Given the description of an element on the screen output the (x, y) to click on. 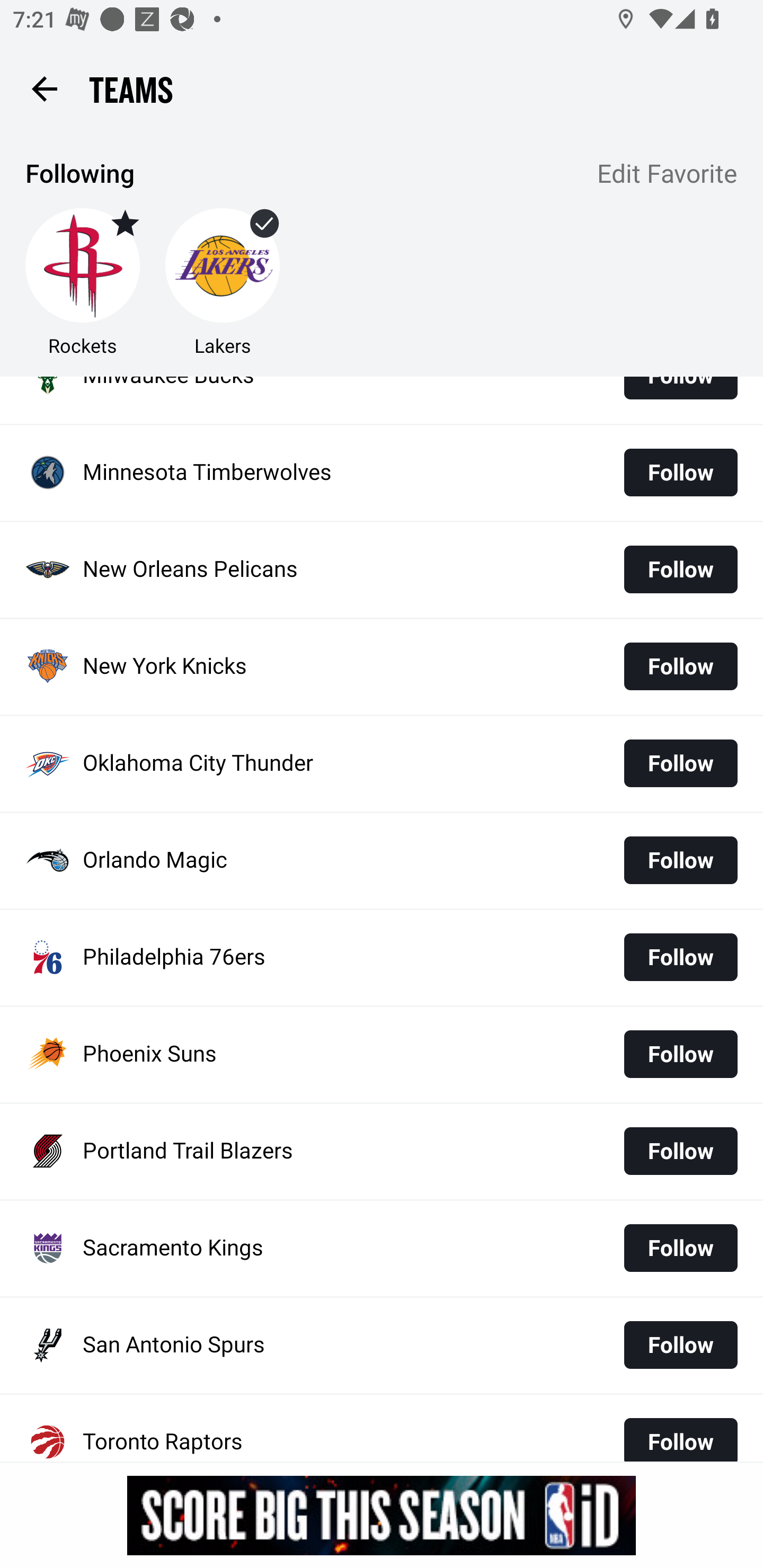
Back button (44, 88)
Edit Favorite (667, 175)
Minnesota Timberwolves Follow (381, 472)
Follow (680, 472)
New Orleans Pelicans Follow (381, 569)
Follow (680, 569)
New York Knicks Follow (381, 667)
Follow (680, 666)
Oklahoma City Thunder Follow (381, 764)
Follow (680, 762)
Orlando Magic Follow (381, 860)
Follow (680, 859)
Philadelphia 76ers Follow (381, 957)
Follow (680, 956)
Phoenix Suns Follow (381, 1054)
Follow (680, 1054)
Portland Trail Blazers Follow (381, 1151)
Follow (680, 1150)
Sacramento Kings Follow (381, 1248)
Follow (680, 1247)
San Antonio Spurs Follow (381, 1345)
Follow (680, 1344)
Toronto Raptors Follow (381, 1428)
Follow (680, 1432)
g5nqqygr7owph (381, 1515)
